Given the description of an element on the screen output the (x, y) to click on. 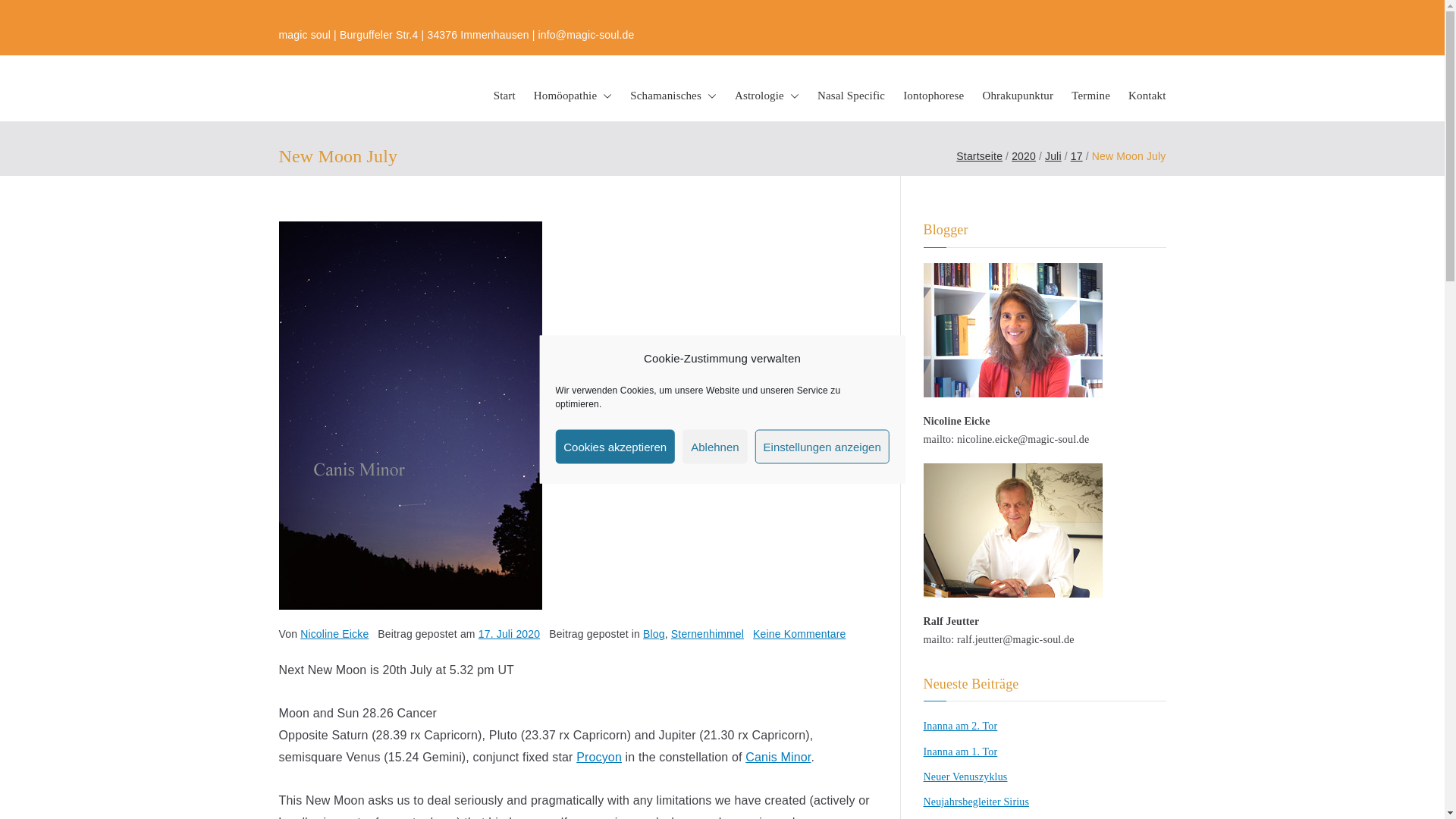
Ablehnen (714, 446)
Iontophorese (932, 95)
Kontakt (1147, 95)
Cookies akzeptieren (614, 446)
Ohrakupunktur (1016, 95)
Einstellungen anzeigen (822, 446)
Start (504, 95)
Astrologie (767, 95)
Nasal Specific (850, 95)
Termine (1090, 95)
Schamanisches (673, 95)
